Given the description of an element on the screen output the (x, y) to click on. 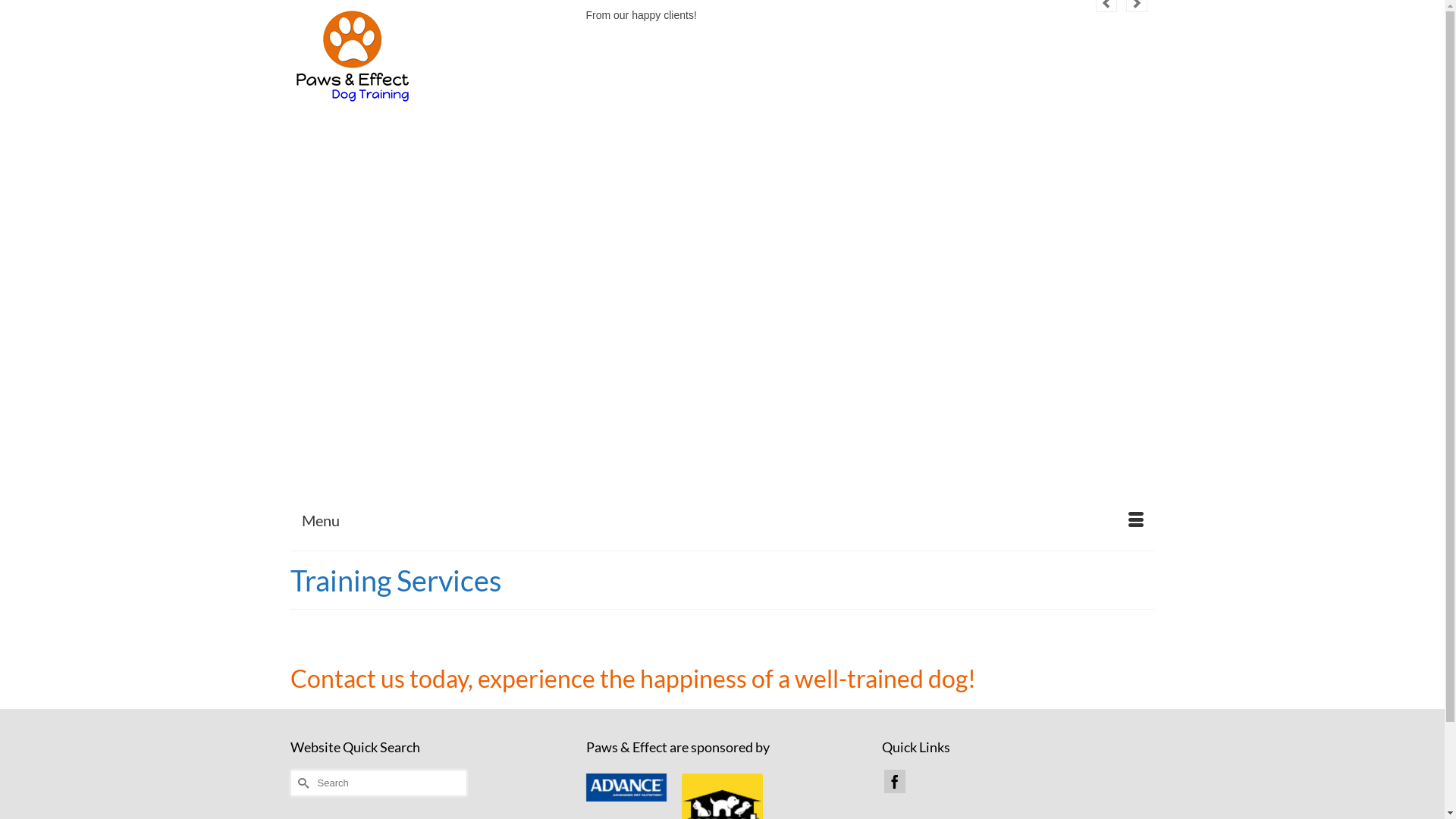
Paws And Effect Dog Training Broome Element type: hover (425, 55)
Menu Element type: text (721, 520)
